Given the description of an element on the screen output the (x, y) to click on. 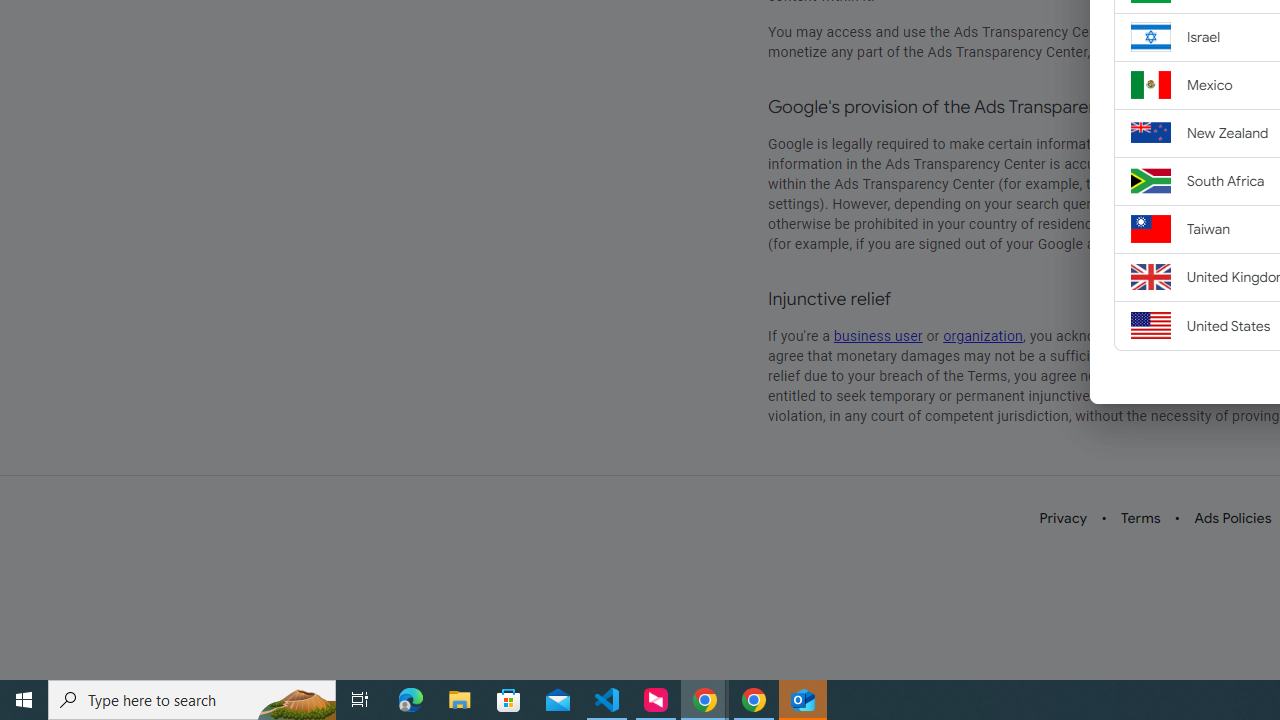
Terms (1140, 518)
business user (877, 336)
Privacy (1063, 518)
Ads Policies (1233, 518)
organization (983, 336)
